Given the description of an element on the screen output the (x, y) to click on. 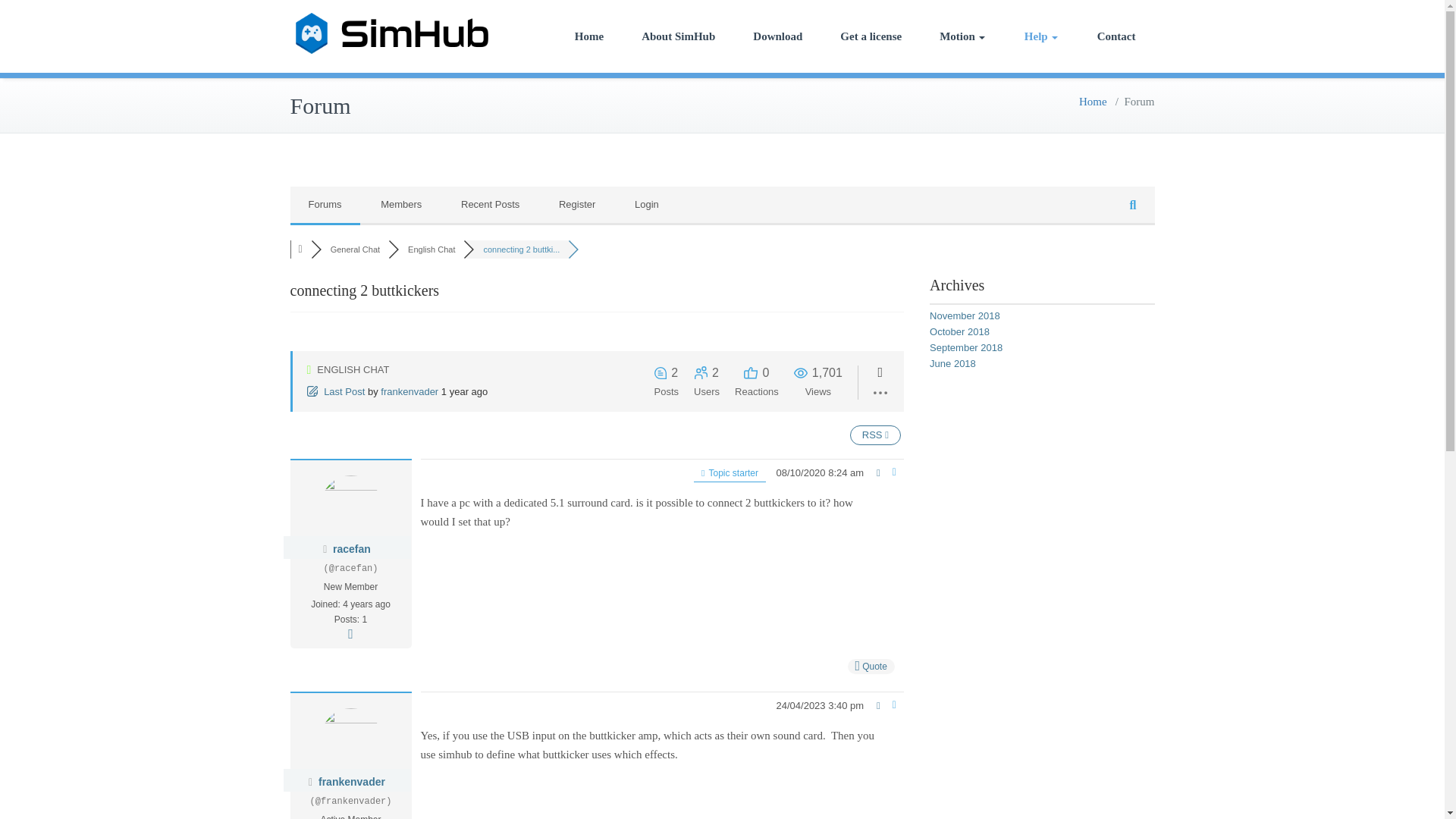
Rating Title (350, 587)
Get a license (870, 36)
Login (646, 204)
English Chat (430, 248)
frankenvader (409, 391)
Topic RSS Feed (875, 434)
frankenvader (351, 781)
General Chat (355, 248)
English Chat (430, 248)
Help (1041, 36)
